Given the description of an element on the screen output the (x, y) to click on. 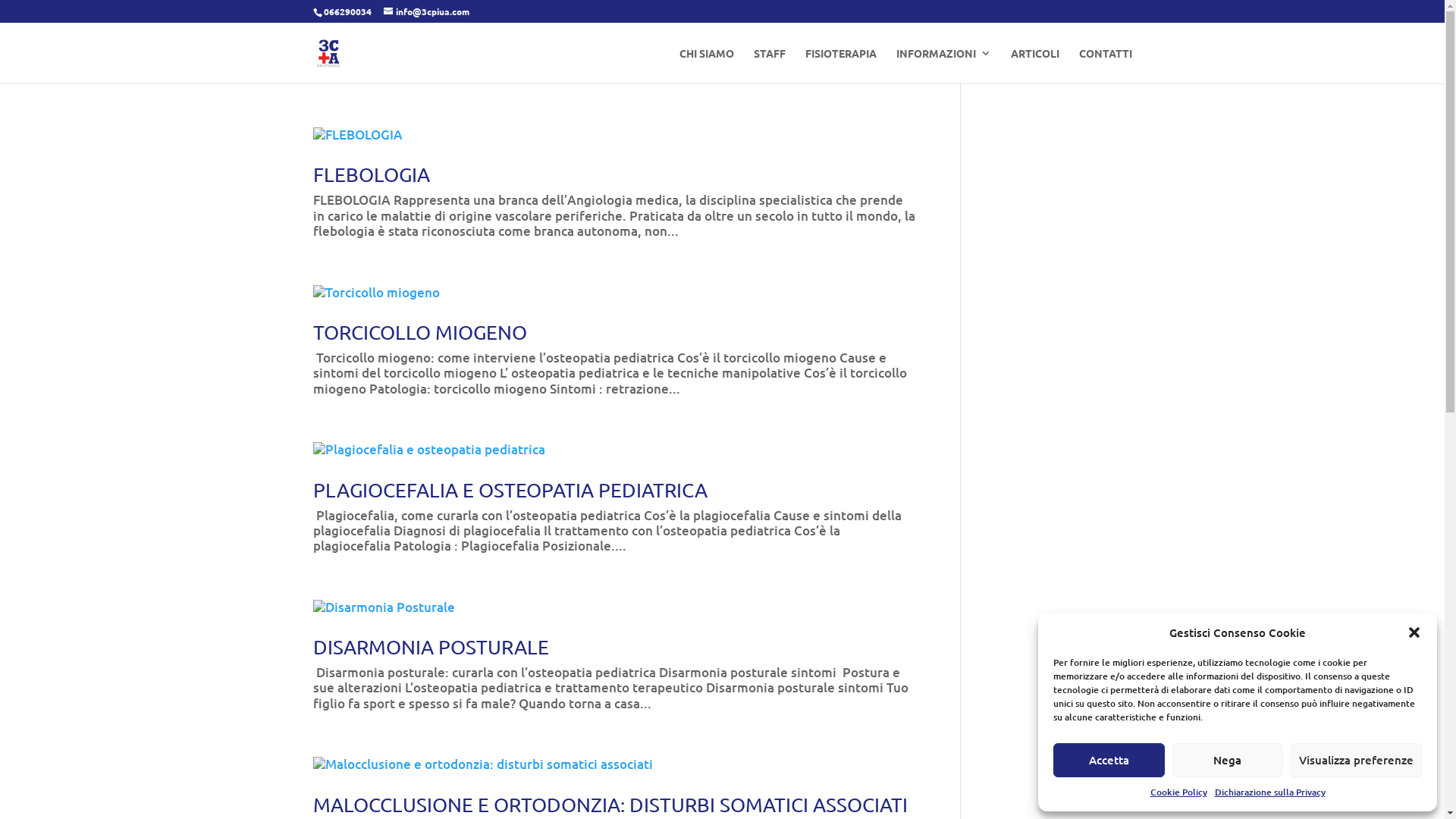
Nega Element type: text (1227, 760)
TORCICOLLO MIOGENO Element type: text (419, 332)
Dichiarazione sulla Privacy Element type: text (1269, 792)
Accetta Element type: text (1108, 760)
MALOCCLUSIONE E ORTODONZIA: DISTURBI SOMATICI ASSOCIATI Element type: text (609, 804)
ARTICOLI Element type: text (1034, 65)
Visualizza preferenze Element type: text (1355, 760)
DISARMONIA POSTURALE Element type: text (430, 646)
CONTATTI Element type: text (1104, 65)
info@3cpiua.com Element type: text (426, 11)
FISIOTERAPIA Element type: text (840, 65)
PLAGIOCEFALIA E OSTEOPATIA PEDIATRICA Element type: text (509, 490)
CHI SIAMO Element type: text (706, 65)
INFORMAZIONI Element type: text (943, 65)
FLEBOLOGIA Element type: text (370, 174)
Cookie Policy Element type: text (1177, 792)
STAFF Element type: text (769, 65)
